Given the description of an element on the screen output the (x, y) to click on. 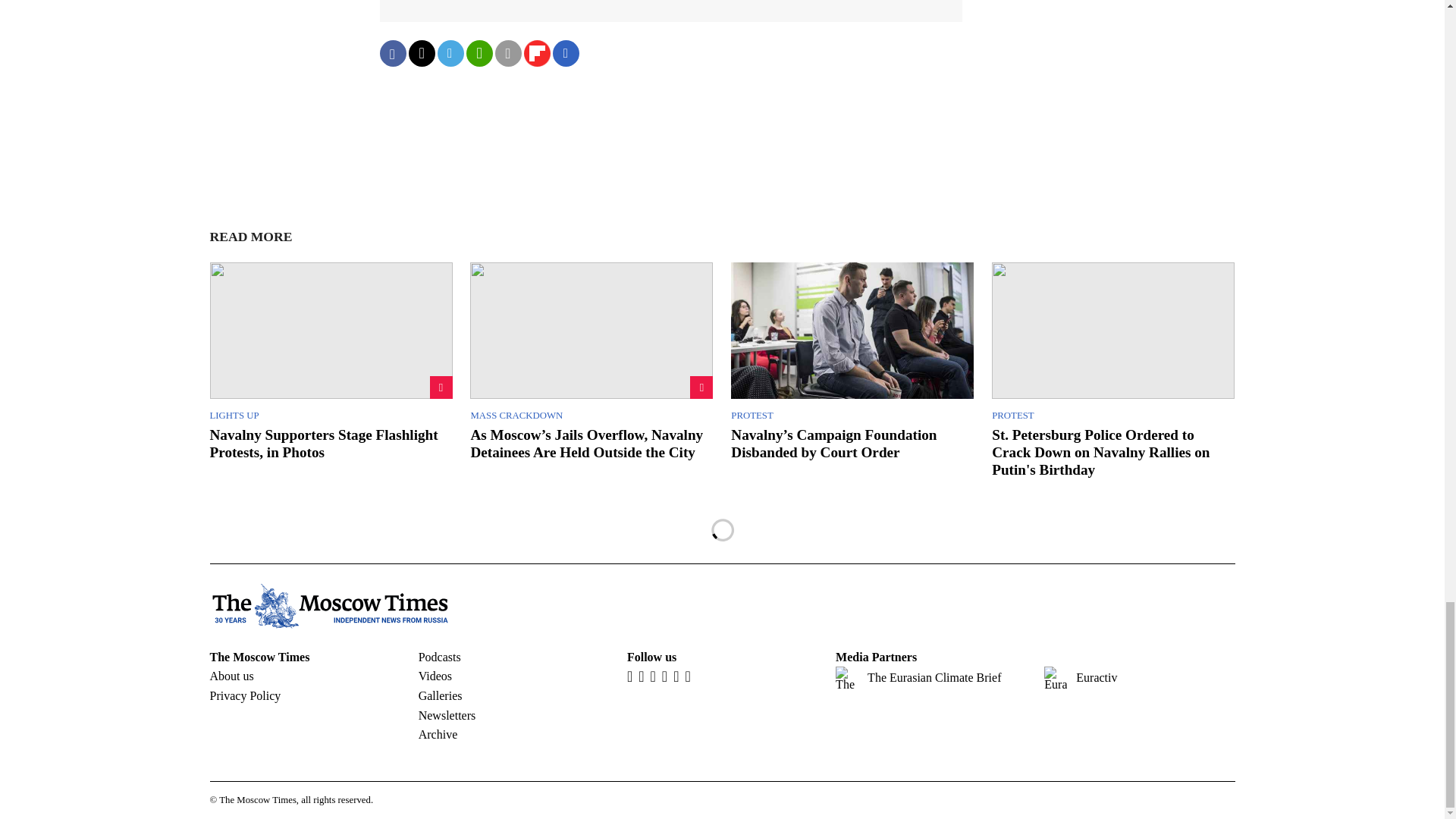
Share on Facebook (392, 53)
Share on Twitter (420, 53)
Share on Telegram (449, 53)
